Given the description of an element on the screen output the (x, y) to click on. 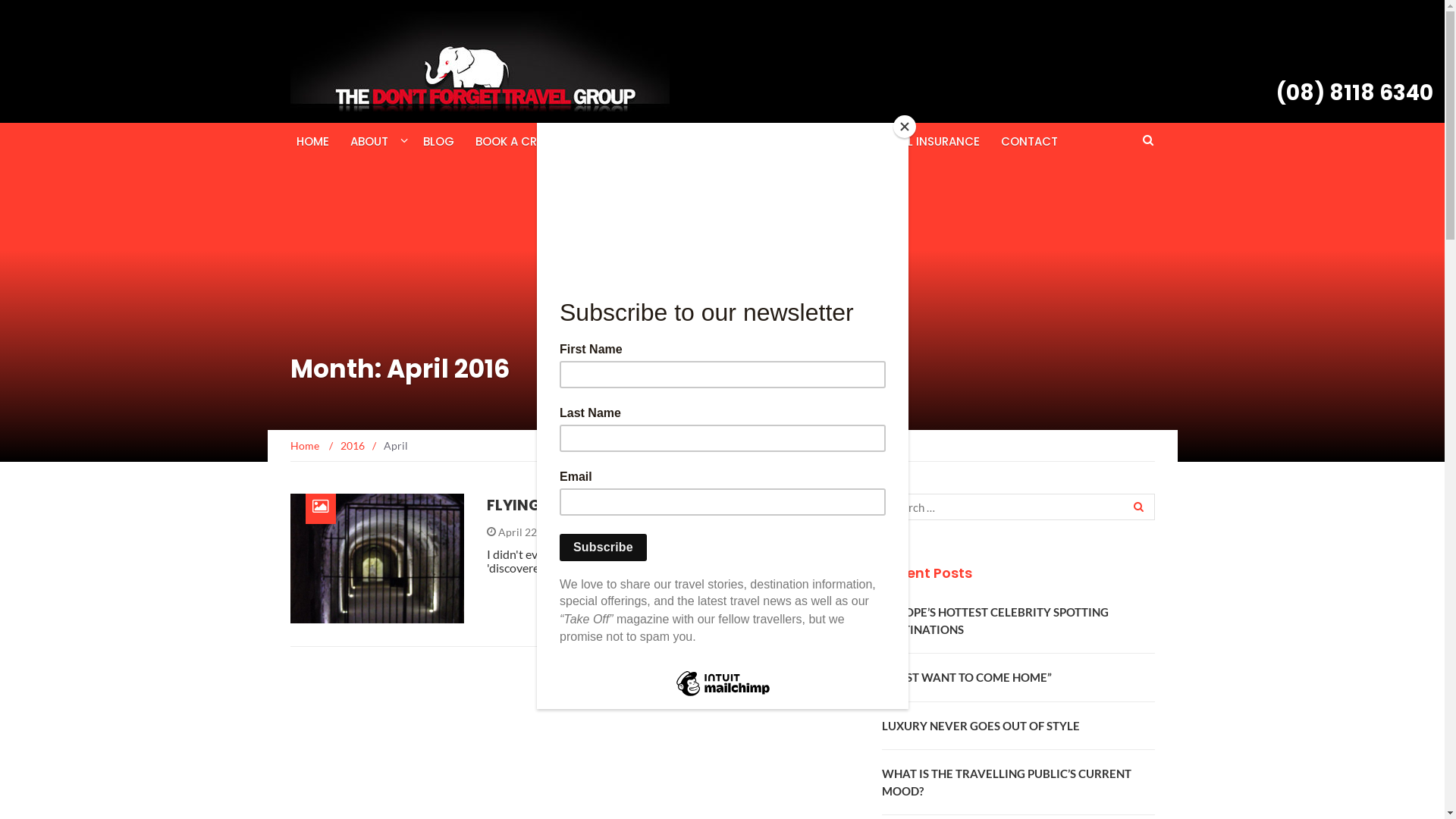
TDFTG SELECT Element type: text (737, 140)
2016 Element type: text (351, 445)
HOME Element type: text (311, 140)
TRAVEL INSURANCE Element type: text (925, 140)
BLOG Element type: text (438, 140)
TAKE OFF Element type: text (824, 140)
ABOUT Element type: text (369, 140)
LUXURY NEVER GOES OUT OF STYLE Element type: text (980, 725)
CONTACT Element type: text (1028, 140)
Home Element type: text (304, 445)
BOOK A CRUISE Element type: text (516, 140)
0 Element type: text (588, 531)
FLYING ON DEATH ROW Element type: text (573, 504)
DESTINATIONS Element type: text (621, 140)
Search Element type: text (1136, 506)
